Given the description of an element on the screen output the (x, y) to click on. 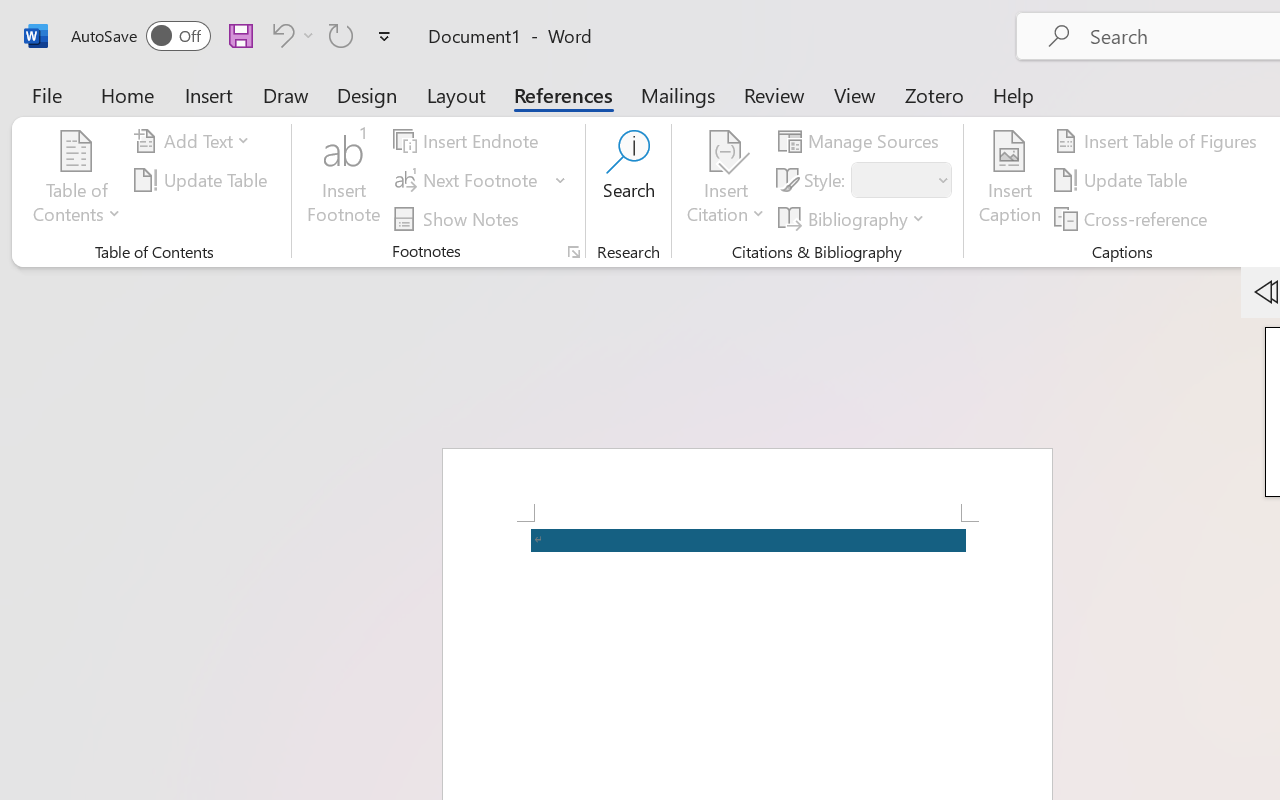
Insert Table of Figures... (1158, 141)
Update Table... (204, 179)
Repeat Accessibility Checker (341, 35)
Insert Caption... (1009, 180)
Insert Endnote (468, 141)
Undo Apply Quick Style Set (290, 35)
Bibliography (854, 218)
Cross-reference... (1133, 218)
